Given the description of an element on the screen output the (x, y) to click on. 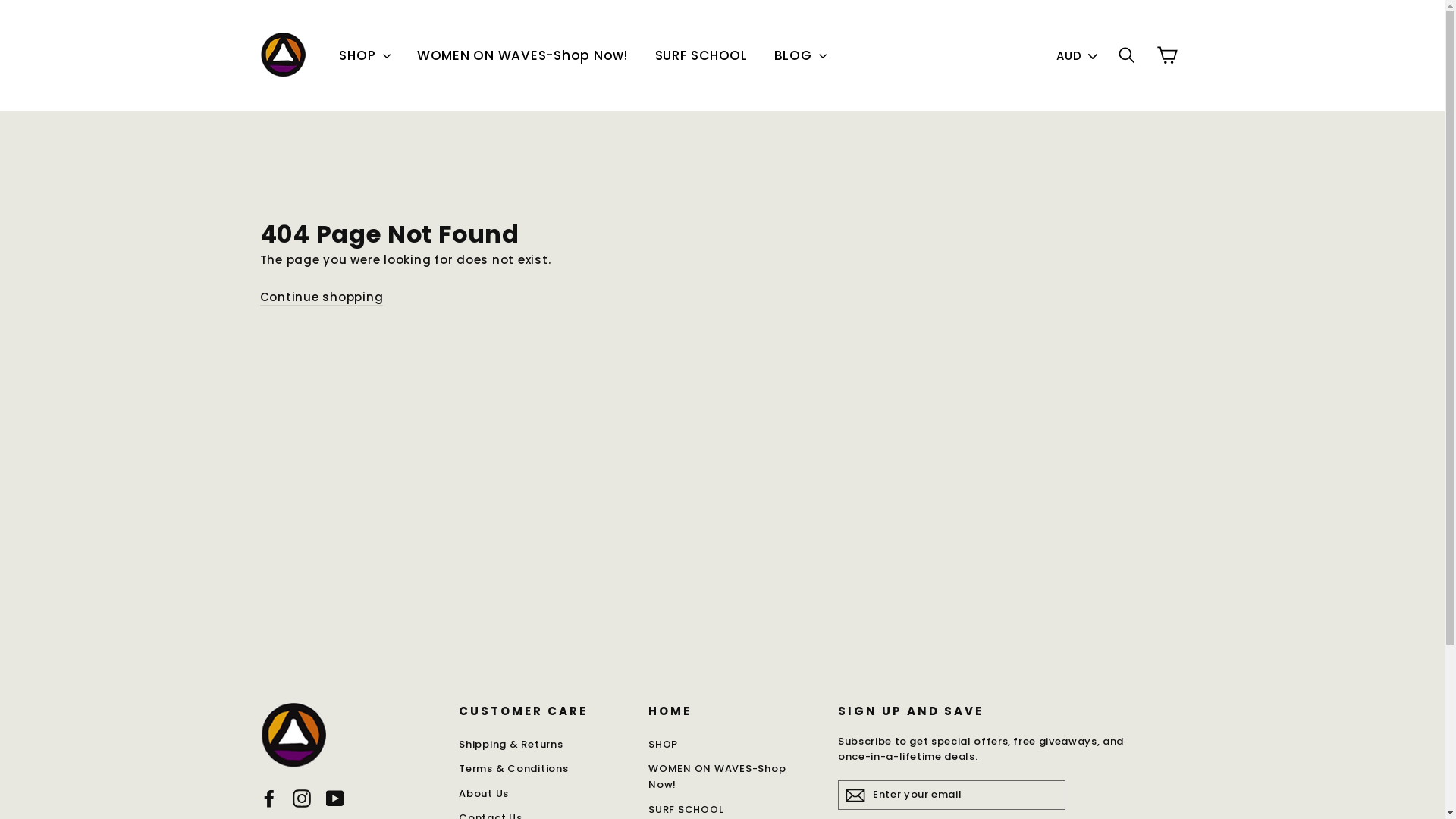
Continue shopping Element type: text (320, 297)
Instagram Element type: text (301, 797)
Skip to content Element type: text (0, 0)
About Us Element type: text (541, 794)
BLOG Element type: text (800, 55)
SHOP Element type: text (364, 55)
WOMEN ON WAVES-Shop Now! Element type: text (731, 777)
SHOP Element type: text (731, 745)
Shipping & Returns Element type: text (541, 745)
Facebook Element type: text (268, 797)
Terms & Conditions Element type: text (541, 769)
SURF SCHOOL Element type: text (700, 55)
YouTube Element type: text (335, 797)
WOMEN ON WAVES-Shop Now! Element type: text (522, 55)
